Given the description of an element on the screen output the (x, y) to click on. 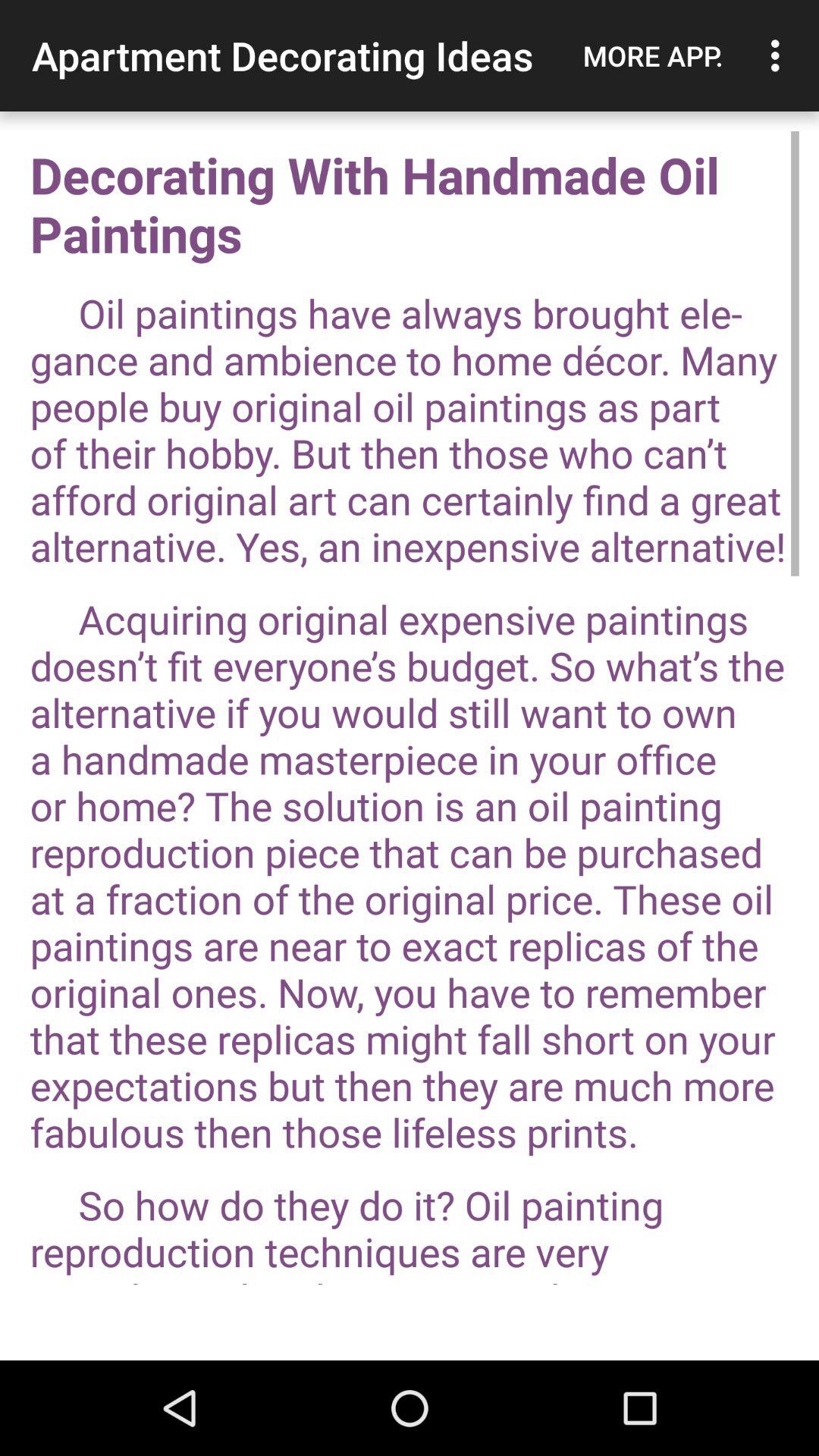
launch app to the right of the apartment decorating ideas item (653, 55)
